Given the description of an element on the screen output the (x, y) to click on. 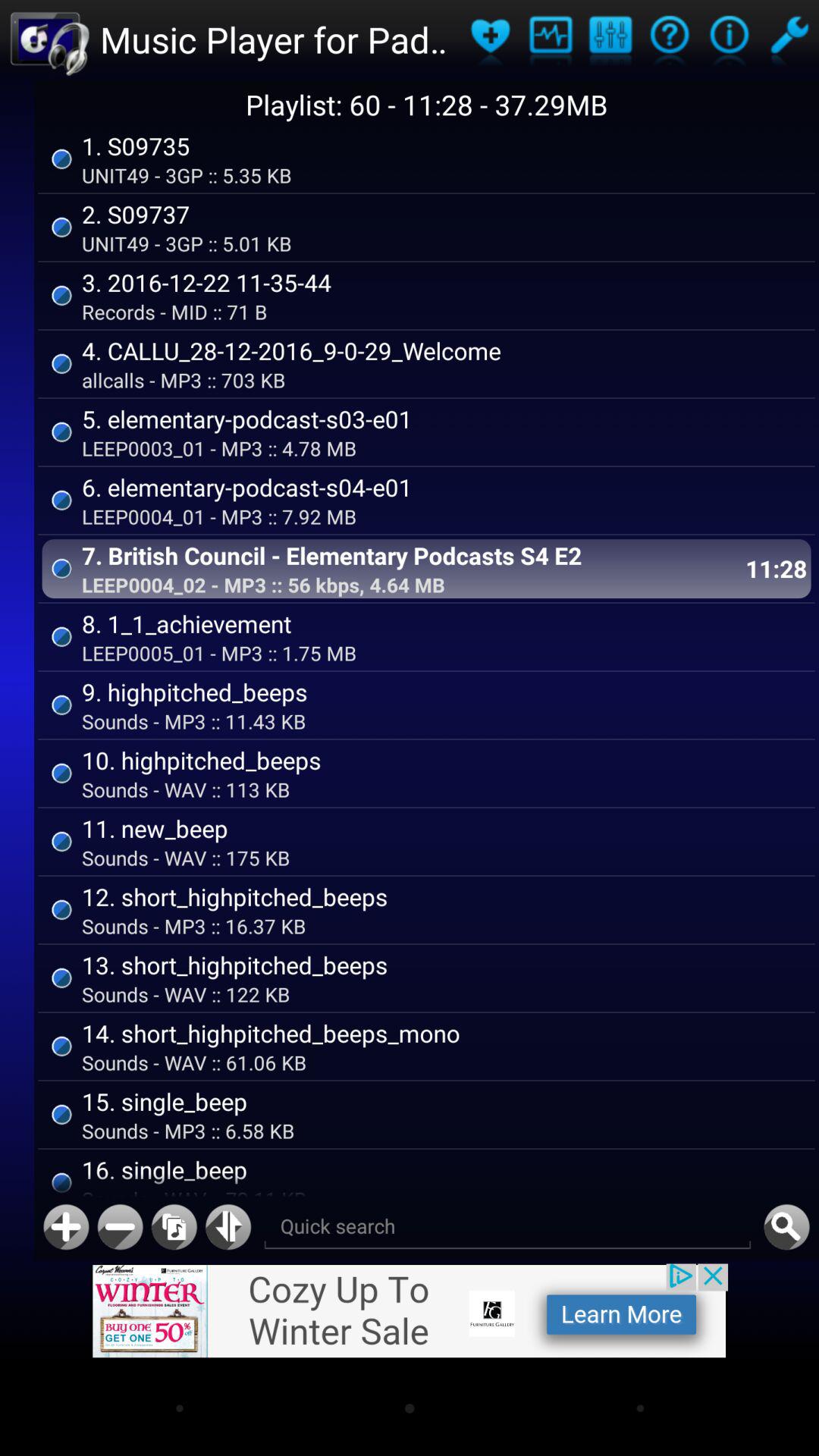
increaese volume (66, 1226)
